Given the description of an element on the screen output the (x, y) to click on. 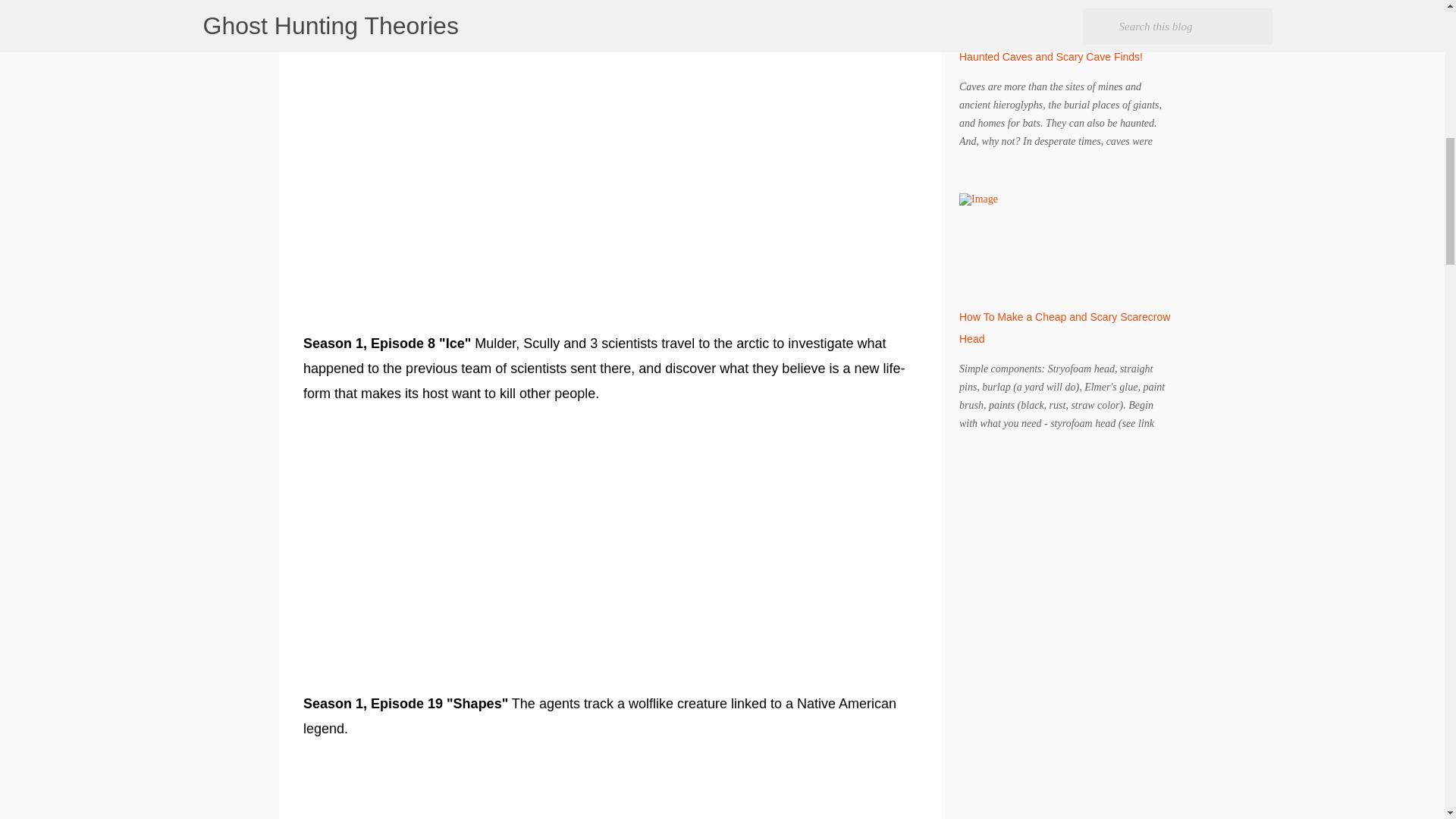
Haunted Caves and Scary Cave Finds! (1050, 56)
How To Make a Cheap and Scary Scarecrow Head (1064, 327)
